Given the description of an element on the screen output the (x, y) to click on. 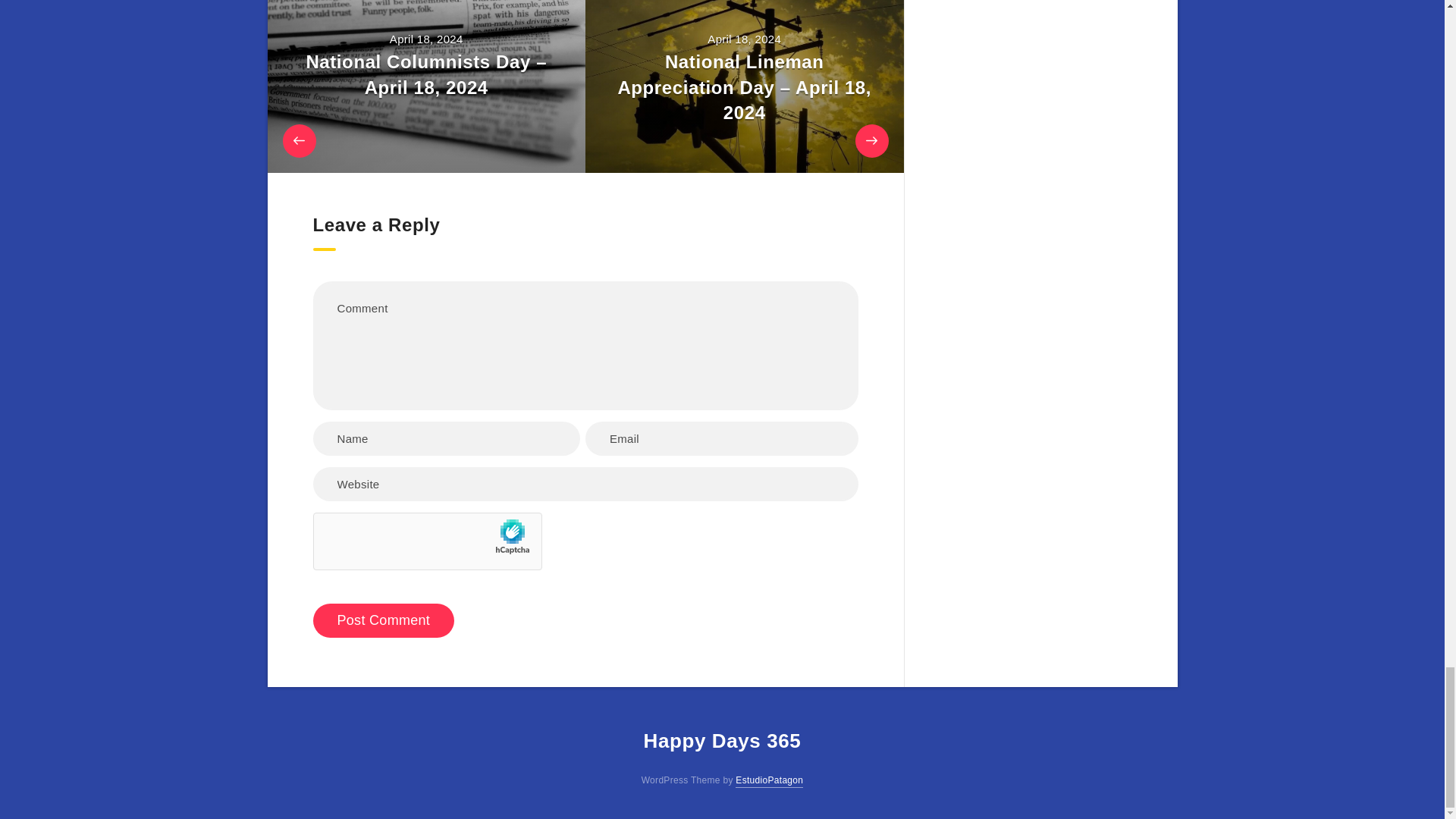
Powered with Reco (769, 780)
Post Comment (383, 620)
